Given the description of an element on the screen output the (x, y) to click on. 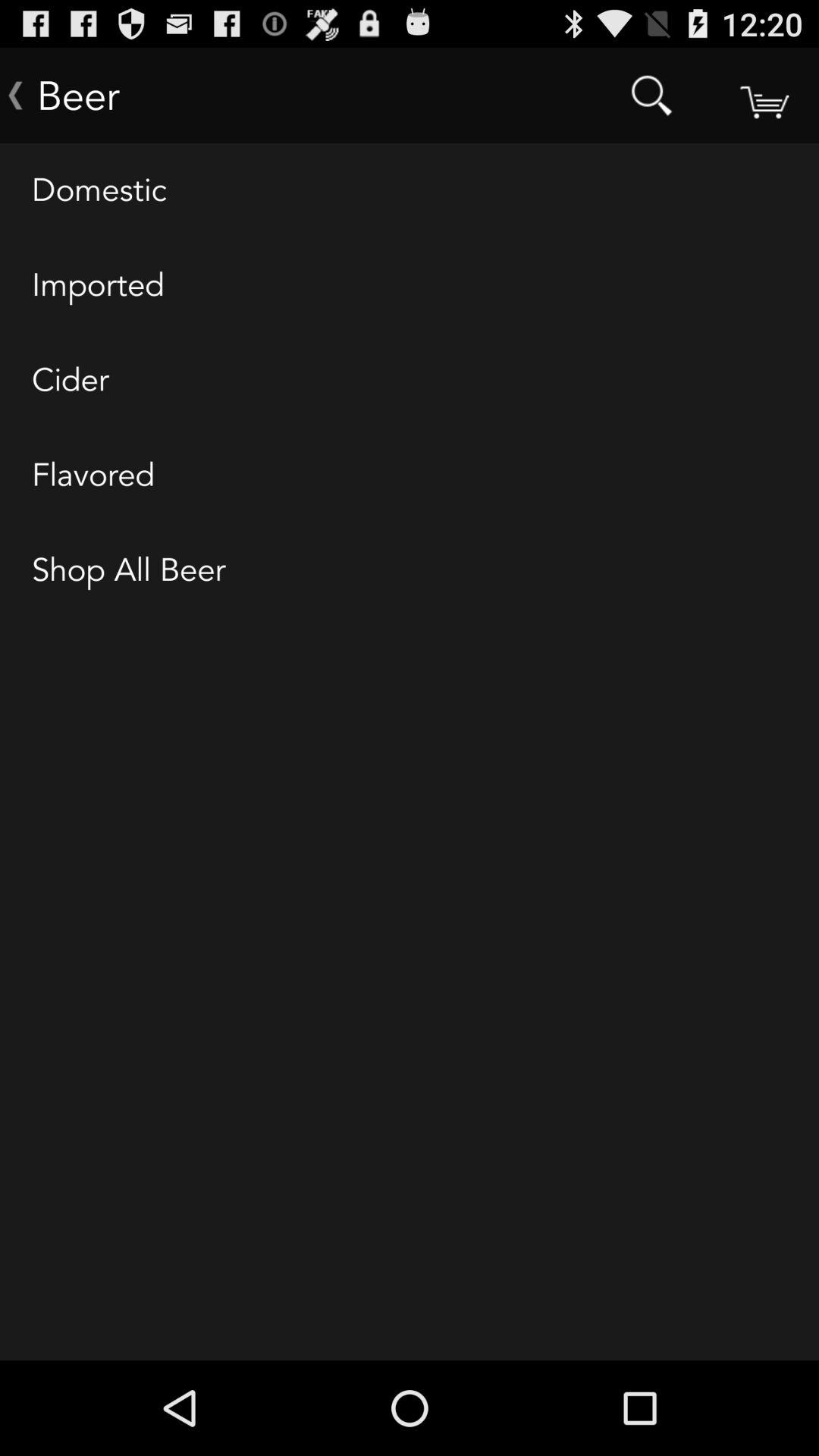
launch the item below the domestic item (409, 285)
